Given the description of an element on the screen output the (x, y) to click on. 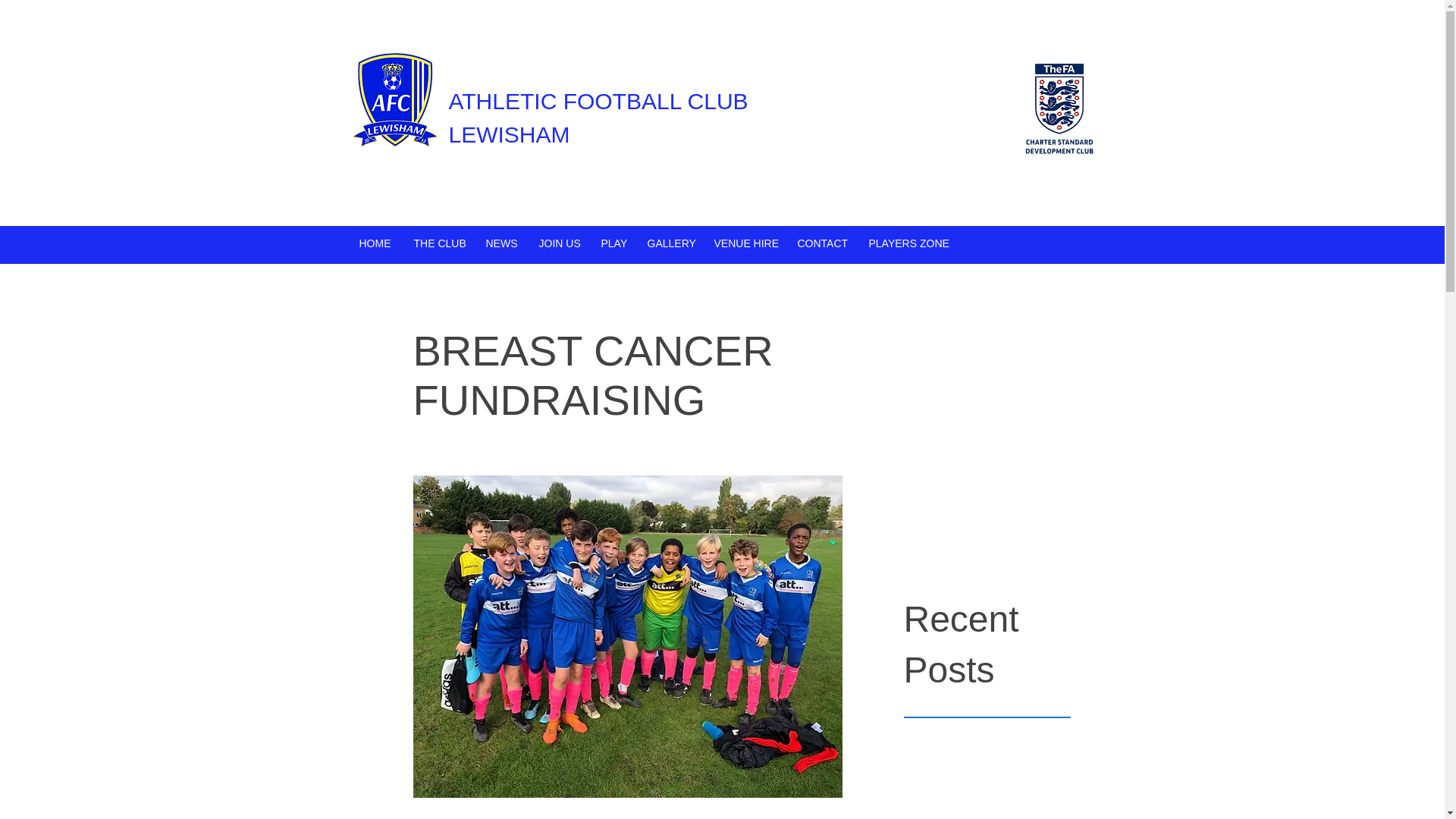
VENUE HIRE (743, 242)
PLAYERS ZONE (905, 242)
JOIN US (558, 242)
THE CLUB (437, 242)
PLAY (612, 242)
GALLERY (667, 242)
AFCL FINALL 1.png (394, 101)
CONTACT (821, 242)
HOME (374, 242)
NEWS (500, 242)
